Given the description of an element on the screen output the (x, y) to click on. 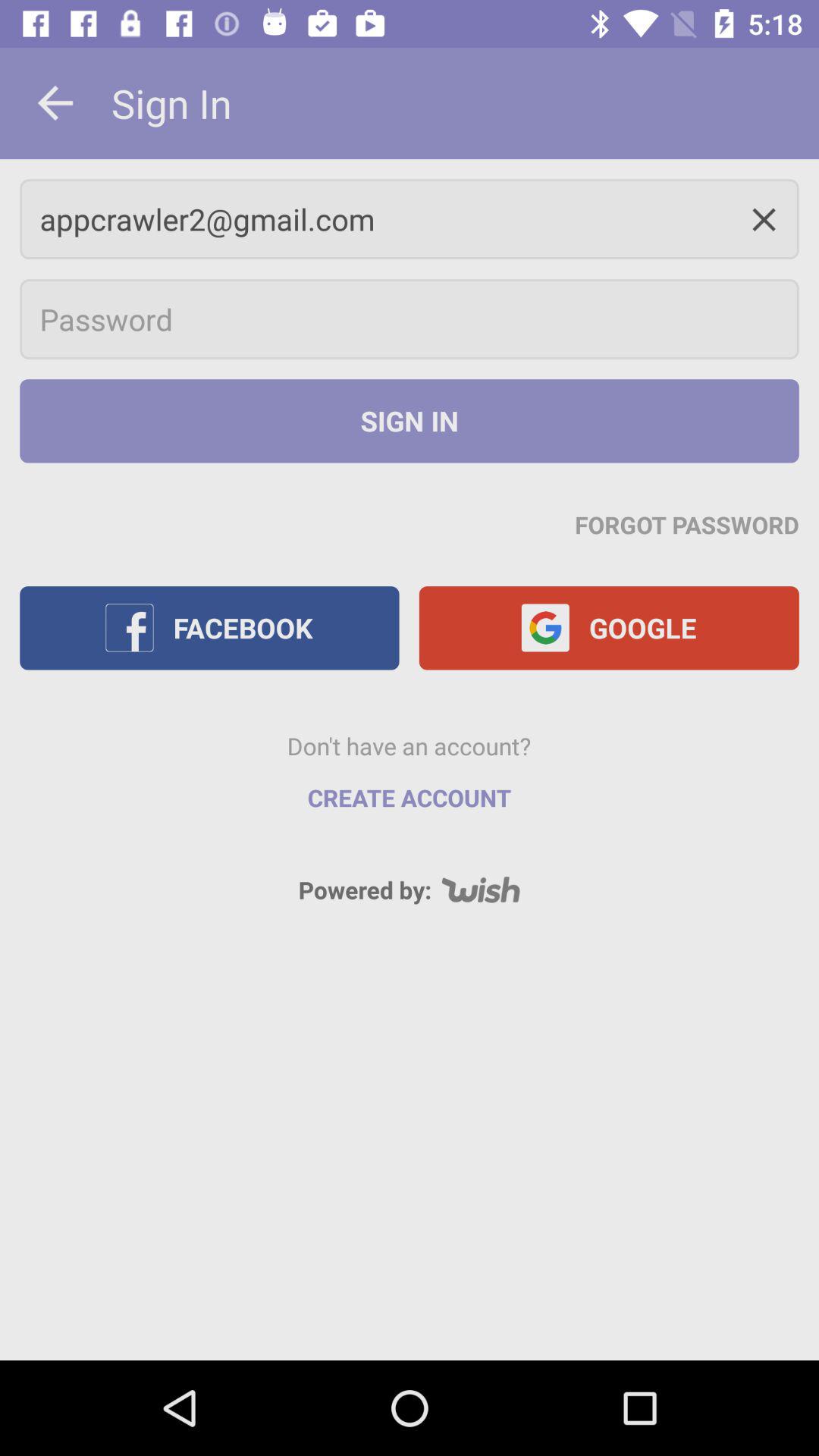
select item below the sign in (409, 219)
